Given the description of an element on the screen output the (x, y) to click on. 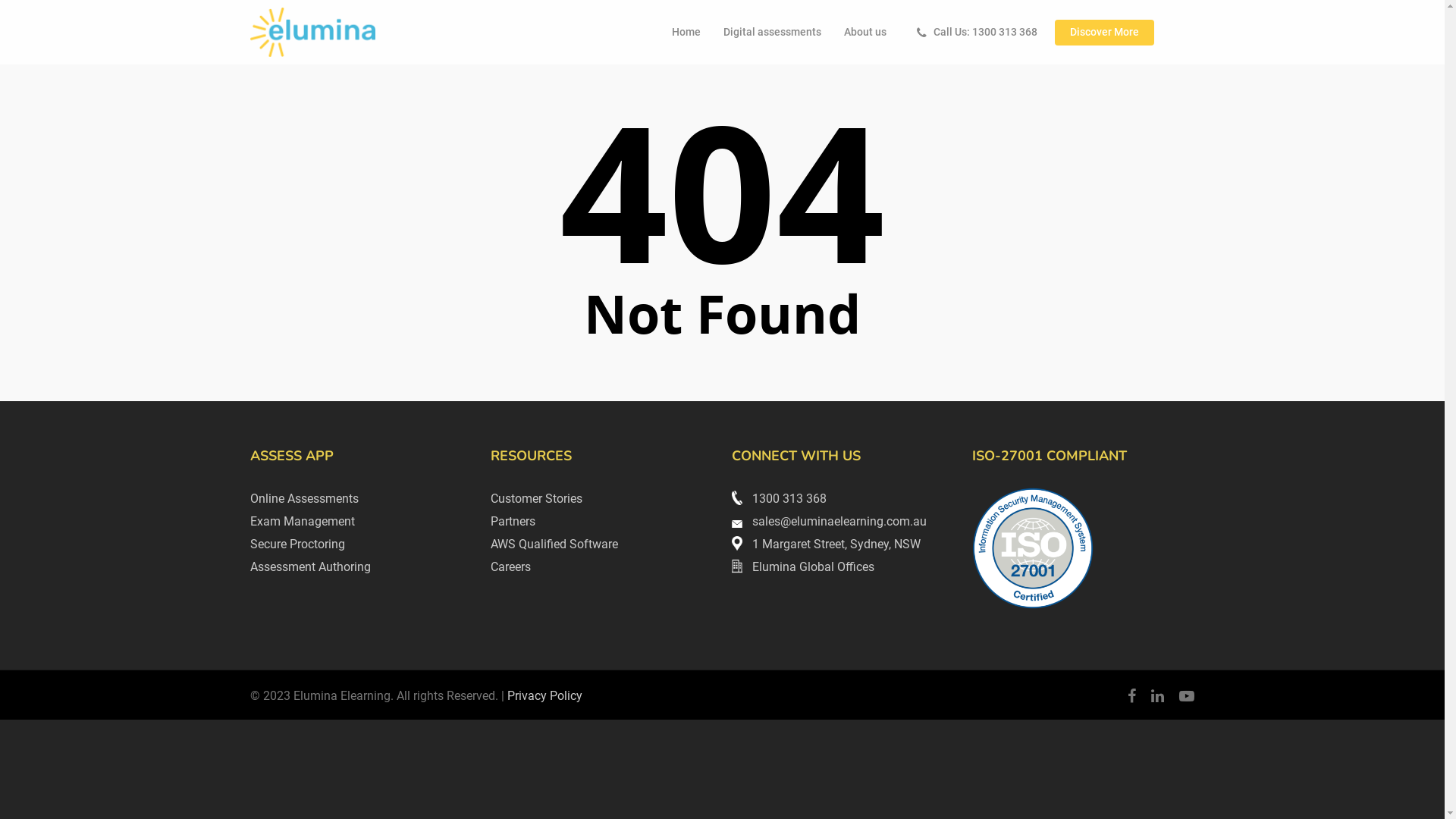
Elumina Global Offices Element type: text (802, 566)
Discover More Element type: text (1104, 32)
1300 313 368 Element type: text (778, 498)
Privacy Policy Element type: text (544, 695)
Partners Element type: text (512, 521)
Home Element type: text (685, 32)
ISO-27001 compliant Element type: hover (1032, 547)
Online Assessments Element type: text (304, 498)
Customer Stories Element type: text (536, 498)
sales@eluminaelearning.com.au Element type: text (828, 521)
1 Margaret Street, Sydney, NSW Element type: text (825, 543)
Careers Element type: text (510, 566)
Digital assessments Element type: text (772, 32)
Assessment Authoring Element type: text (310, 566)
About us Element type: text (865, 32)
Exam Management Element type: text (302, 521)
Call Us: 1300 313 368 Element type: text (973, 32)
AWS Qualified Software Element type: text (554, 543)
Secure Proctoring Element type: text (297, 543)
